Given the description of an element on the screen output the (x, y) to click on. 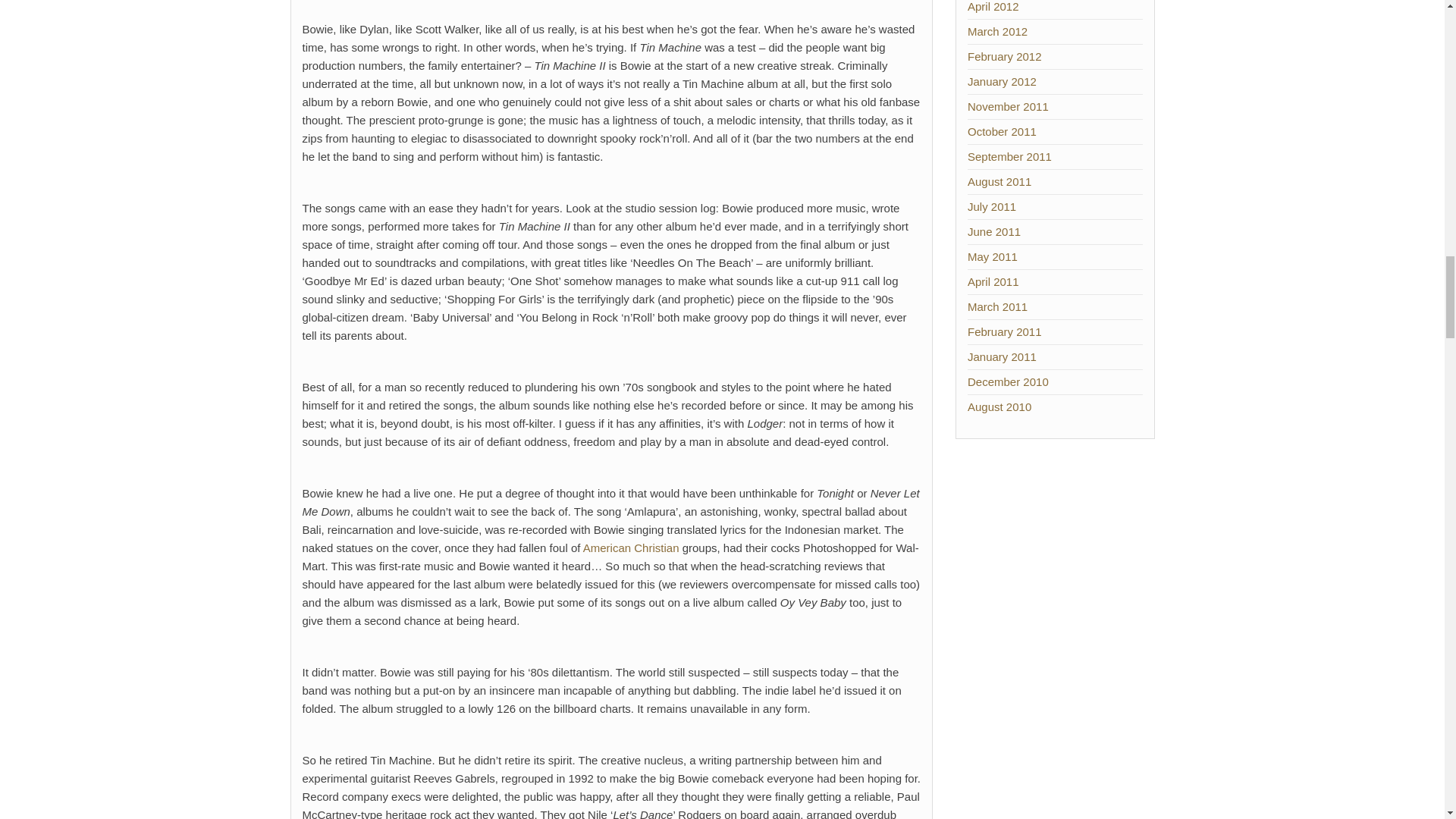
American Christian (631, 547)
